Given the description of an element on the screen output the (x, y) to click on. 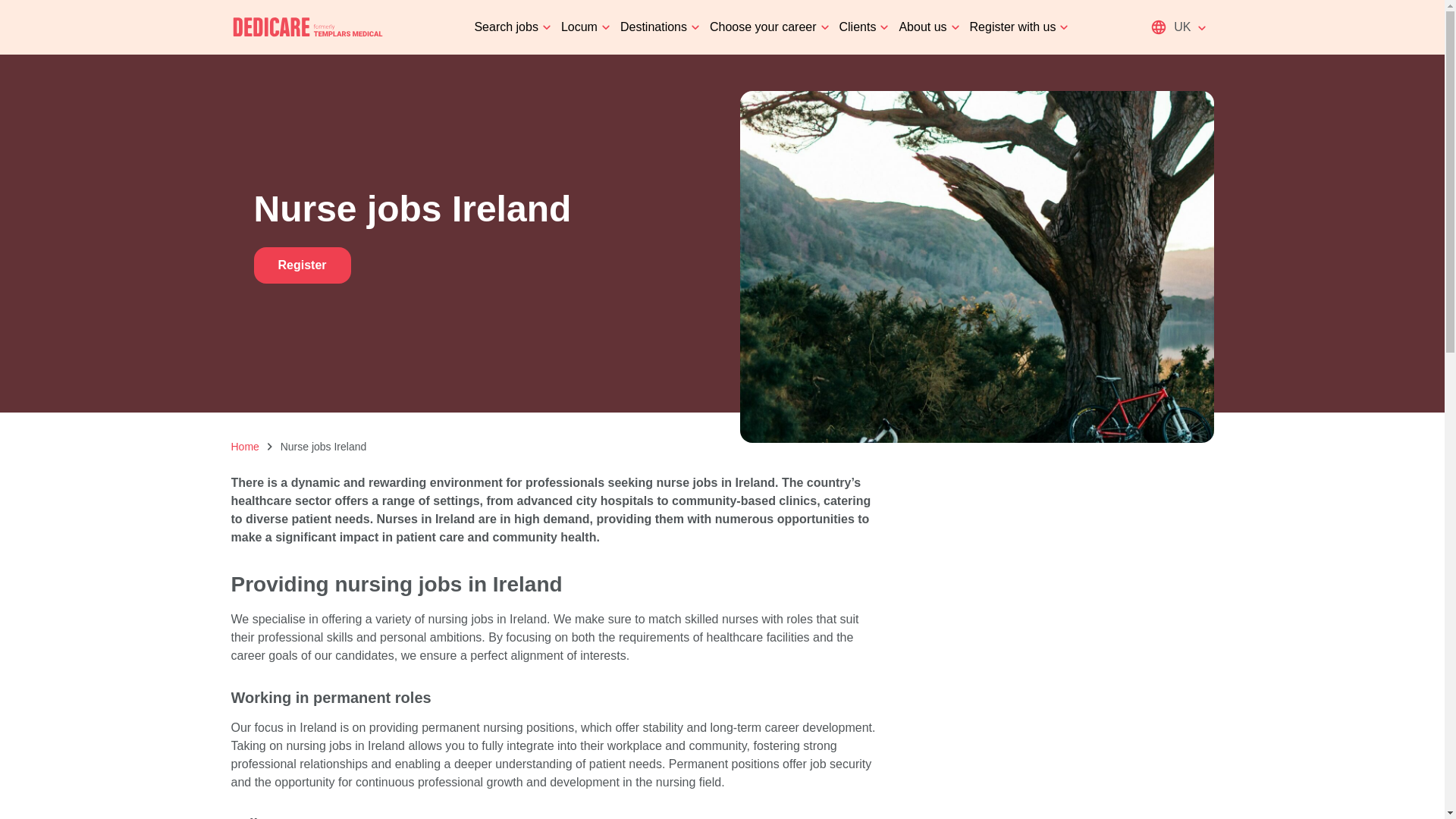
Locum (579, 27)
Choose your career (763, 27)
Destinations (653, 27)
Dedicare UK (307, 27)
Search jobs (506, 27)
